Given the description of an element on the screen output the (x, y) to click on. 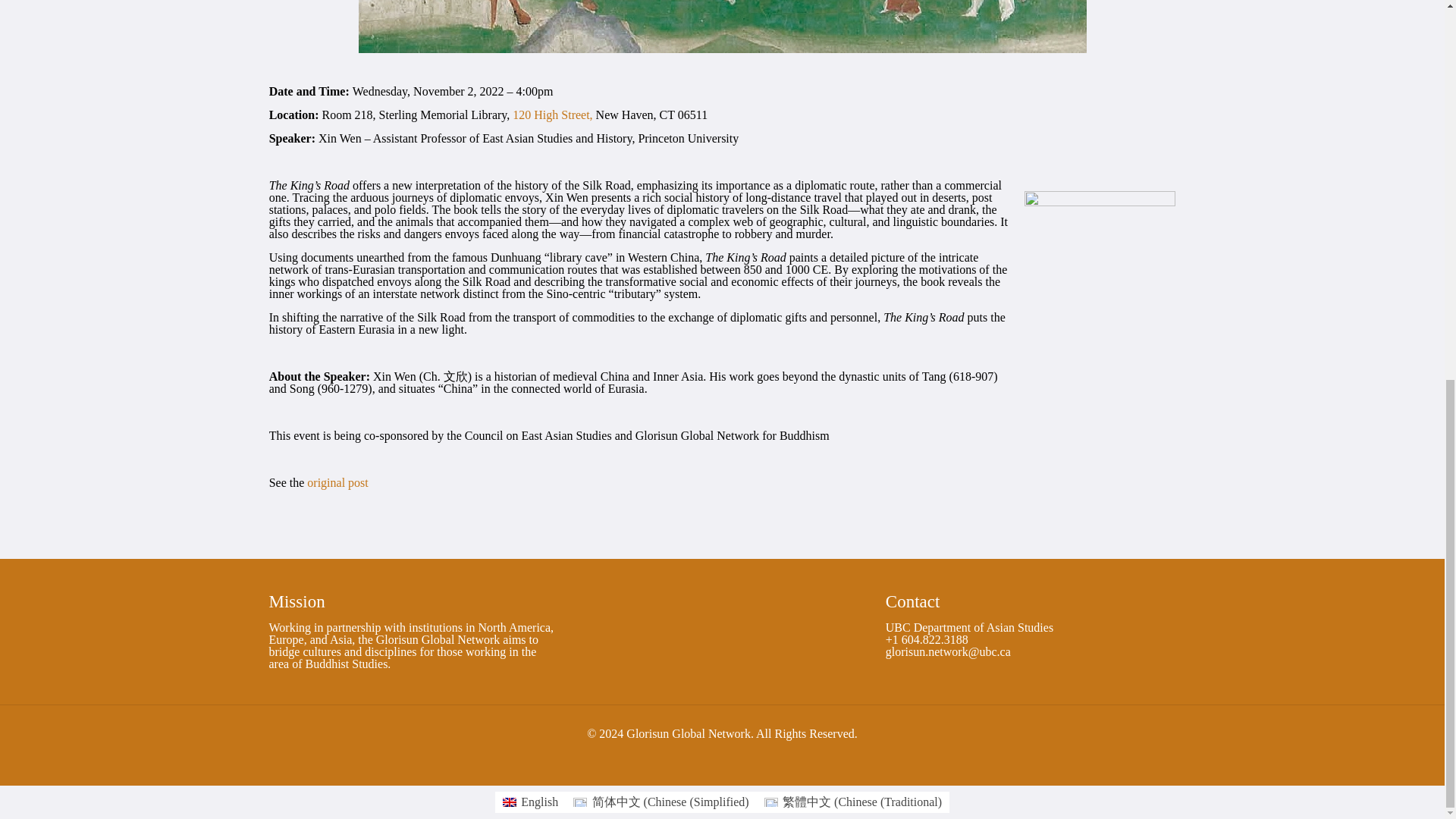
original post (337, 481)
English (530, 802)
120 High Street, (552, 114)
